Given the description of an element on the screen output the (x, y) to click on. 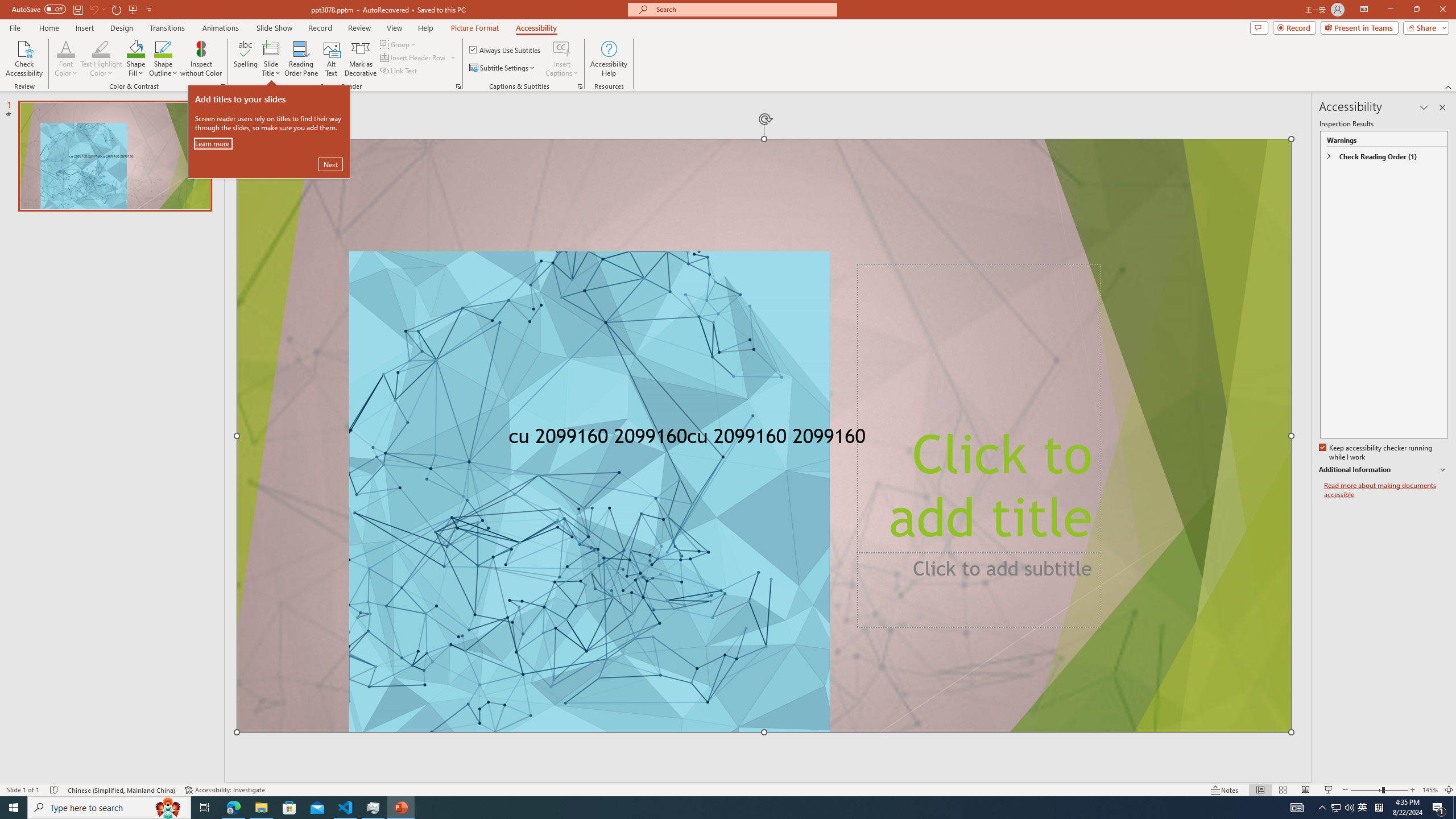
Always Use Subtitles (505, 49)
Task Manager - 1 running window (373, 807)
Mark as Decorative (360, 58)
